Given the description of an element on the screen output the (x, y) to click on. 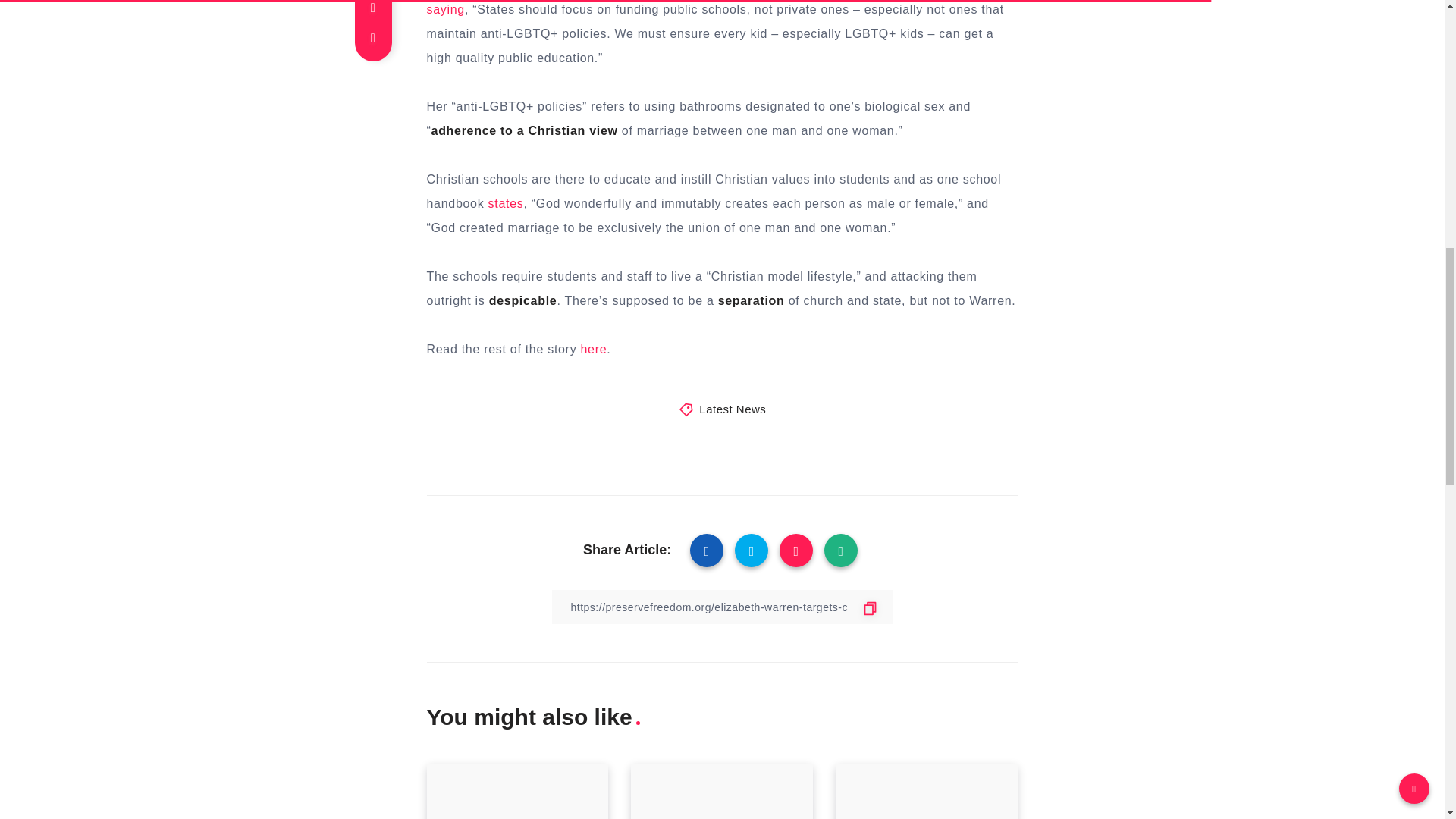
here (593, 349)
saying (445, 9)
states (505, 203)
Latest News (731, 408)
